Given the description of an element on the screen output the (x, y) to click on. 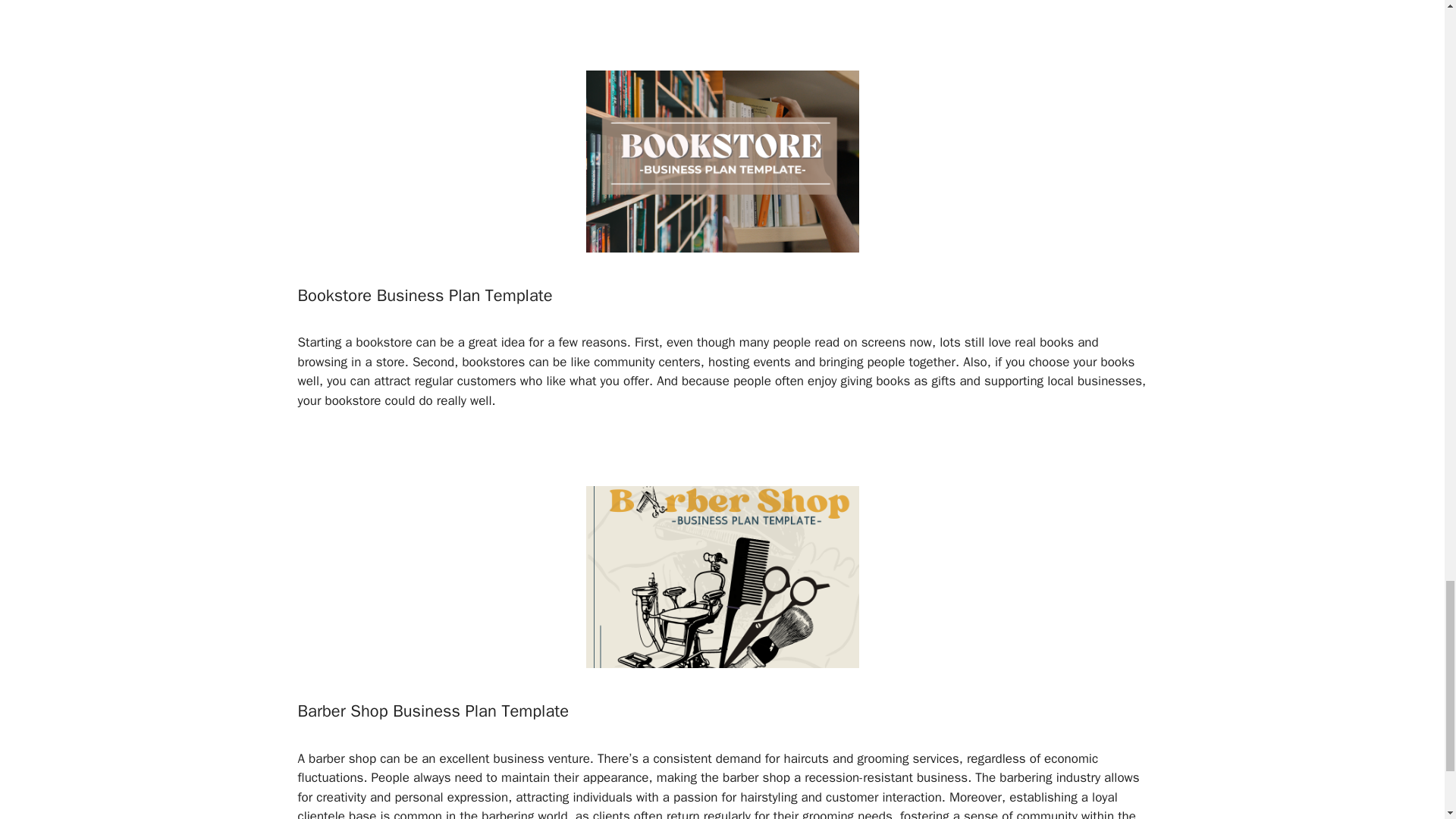
Barber Shop Business Plan Template (433, 711)
Bookstore Business Plan Template (424, 295)
